Given the description of an element on the screen output the (x, y) to click on. 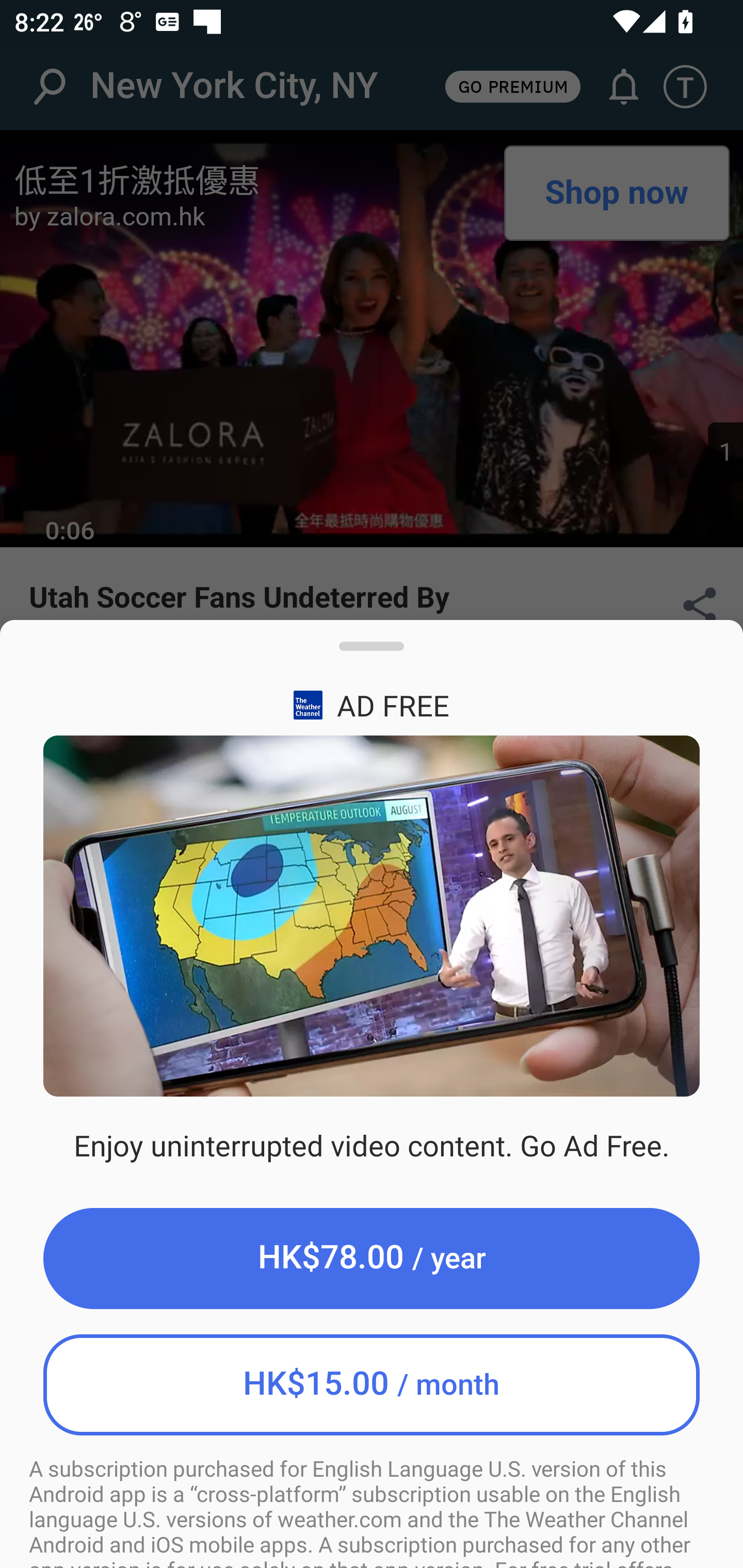
show full description (371, 653)
Logo icon AD FREE (371, 704)
HK$78.00 / year (371, 1258)
HK$15.00 / month (371, 1384)
